Given the description of an element on the screen output the (x, y) to click on. 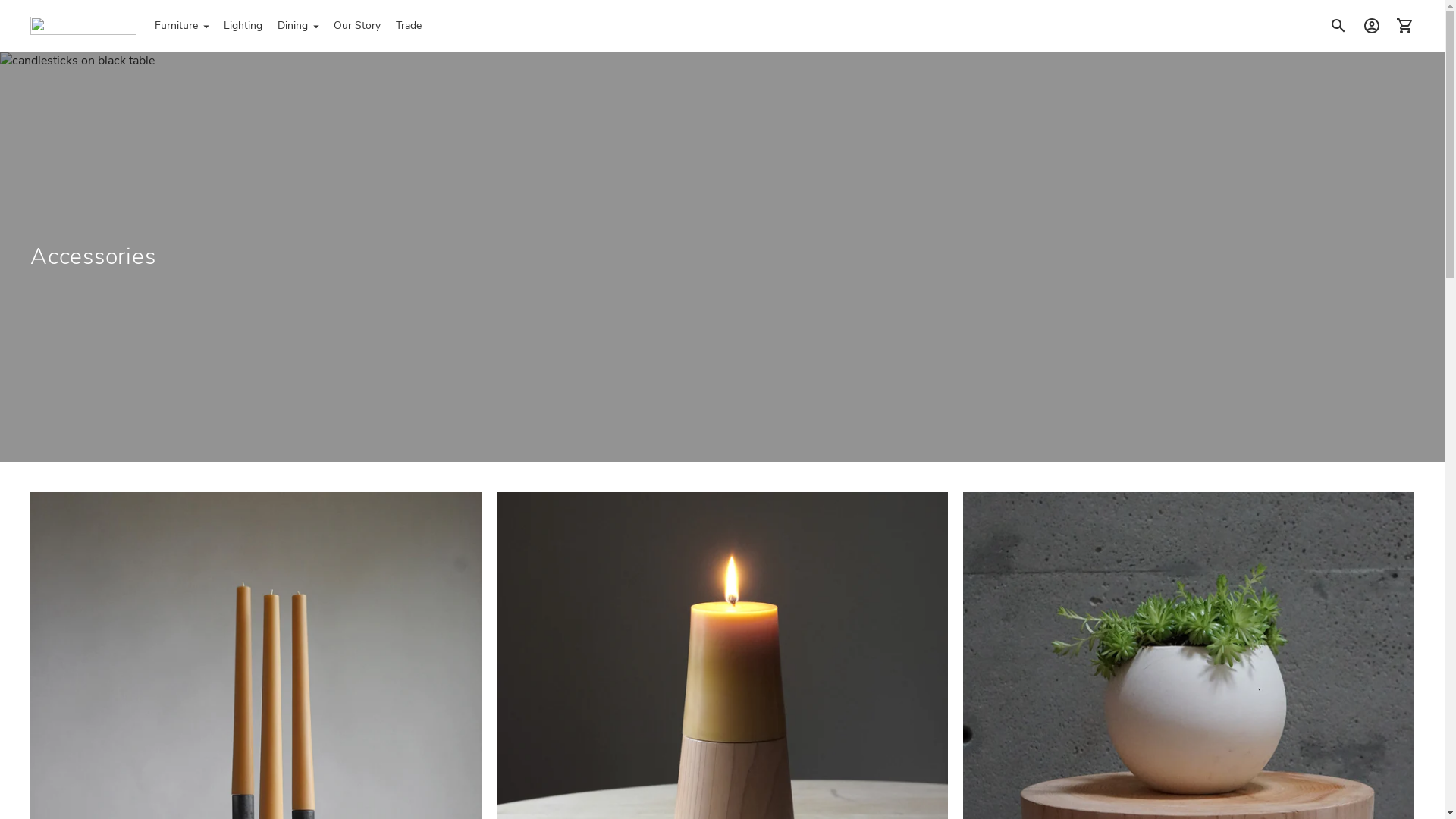
Search Element type: hover (1338, 25)
Lighting Element type: text (242, 25)
Furniture Element type: text (181, 25)
Account Element type: hover (1371, 25)
Dining Element type: text (297, 25)
Cart Element type: hover (1404, 25)
Trade Element type: text (408, 25)
Our Story Element type: text (356, 25)
